Given the description of an element on the screen output the (x, y) to click on. 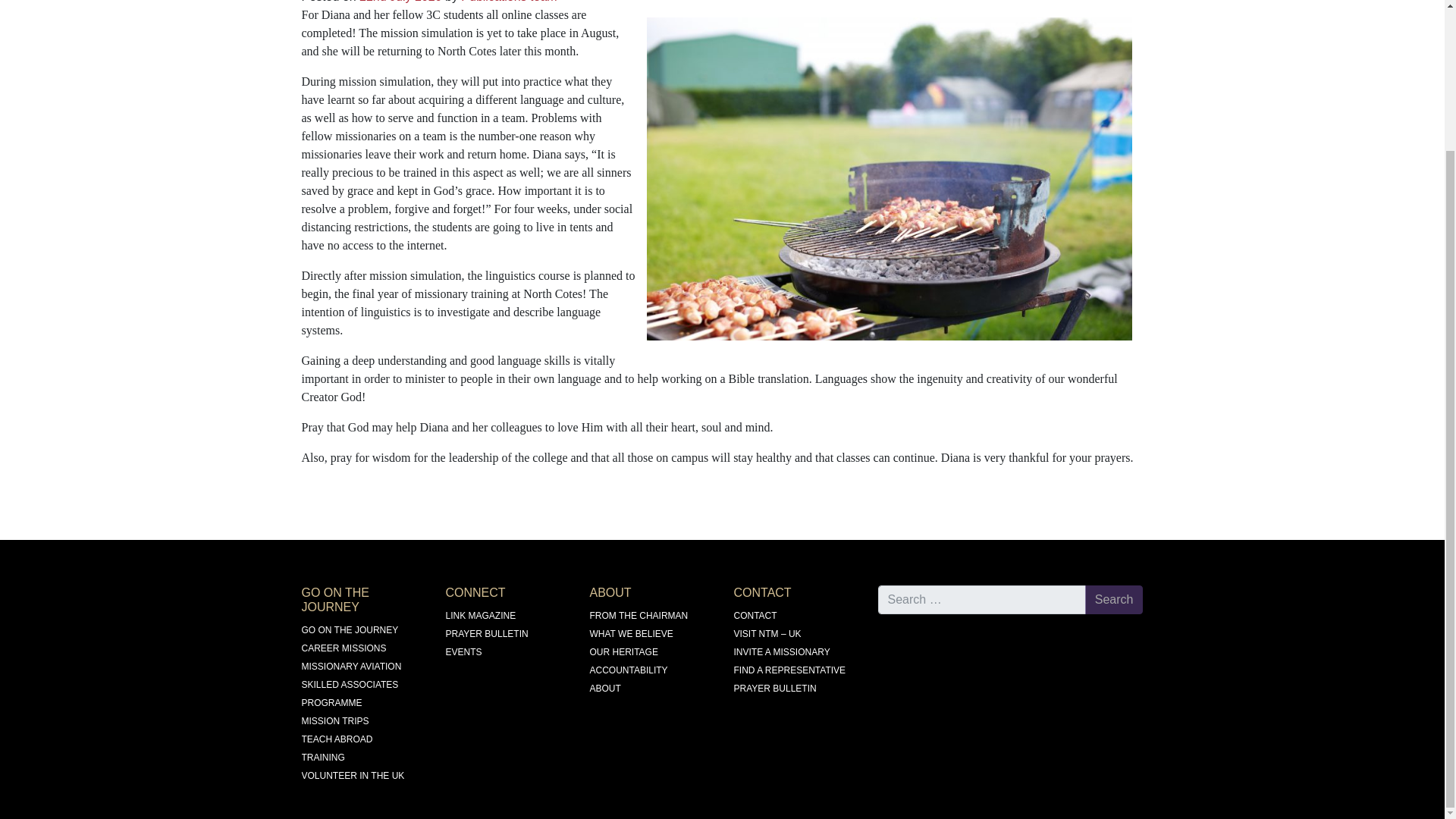
MISSIONARY AVIATION (351, 665)
Publications team (508, 1)
GO ON THE JOURNEY (349, 629)
22nd July 2020 (400, 1)
Search (1113, 599)
SKILLED ASSOCIATES PROGRAMME (349, 693)
CAREER MISSIONS (344, 647)
